Given the description of an element on the screen output the (x, y) to click on. 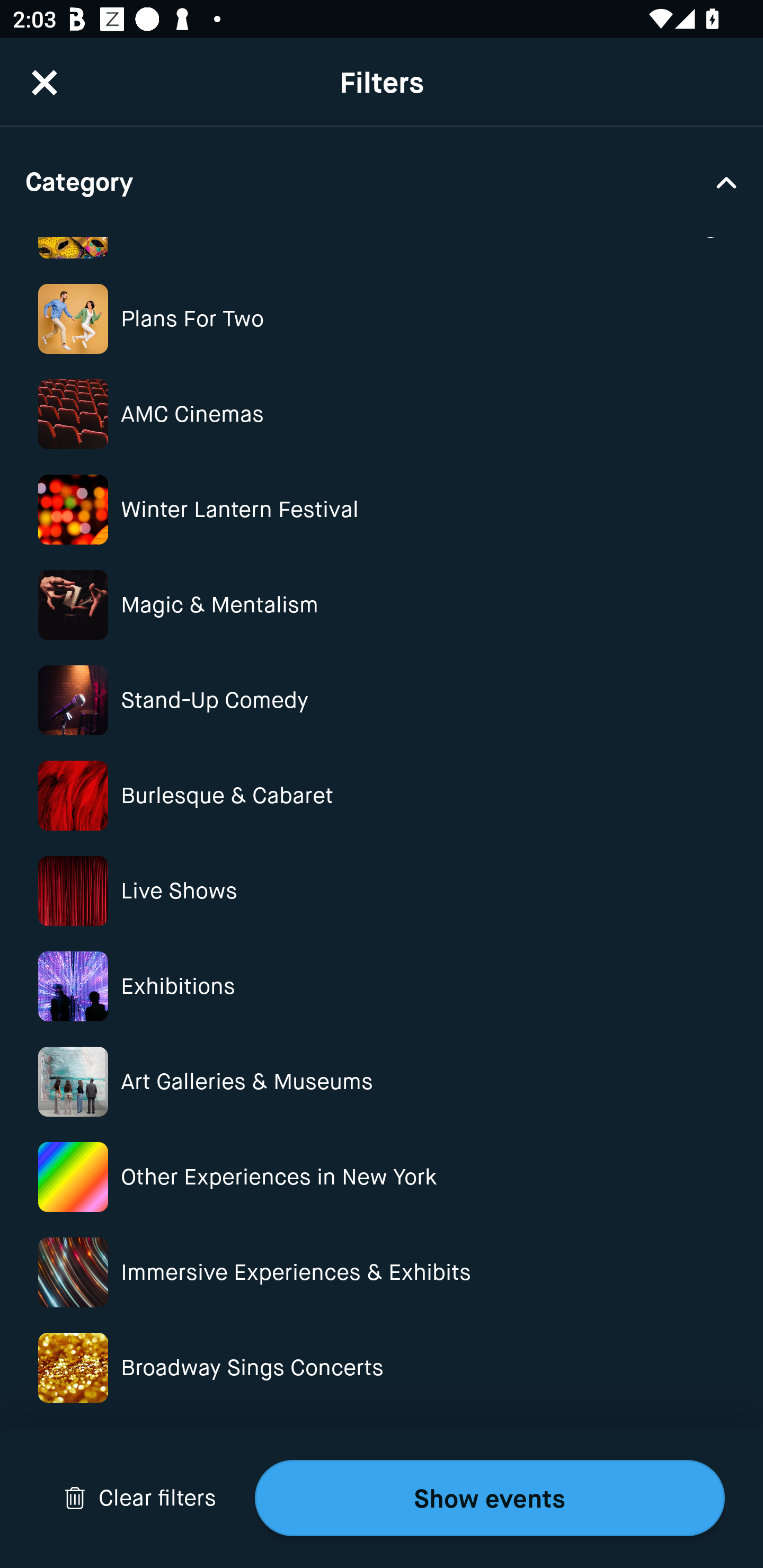
Category Drop Down Arrow (381, 181)
Category Image Plans For Two (381, 318)
Category Image AMC Cinemas (381, 414)
Category Image Winter Lantern Festival (381, 509)
Category Image Magic & Mentalism (381, 604)
Category Image Stand-Up Comedy (381, 699)
Category Image Burlesque & Cabaret (381, 795)
Category Image Live Shows (381, 890)
Category Image Exhibitions (381, 985)
Category Image Art Galleries & Museums (381, 1081)
Category Image Other Experiences in New York (381, 1176)
Category Image Immersive Experiences & Exhibits (381, 1272)
Category Image Broadway Sings Concerts (381, 1367)
Drop Down Arrow Clear filters (139, 1497)
Show events (489, 1497)
